Given the description of an element on the screen output the (x, y) to click on. 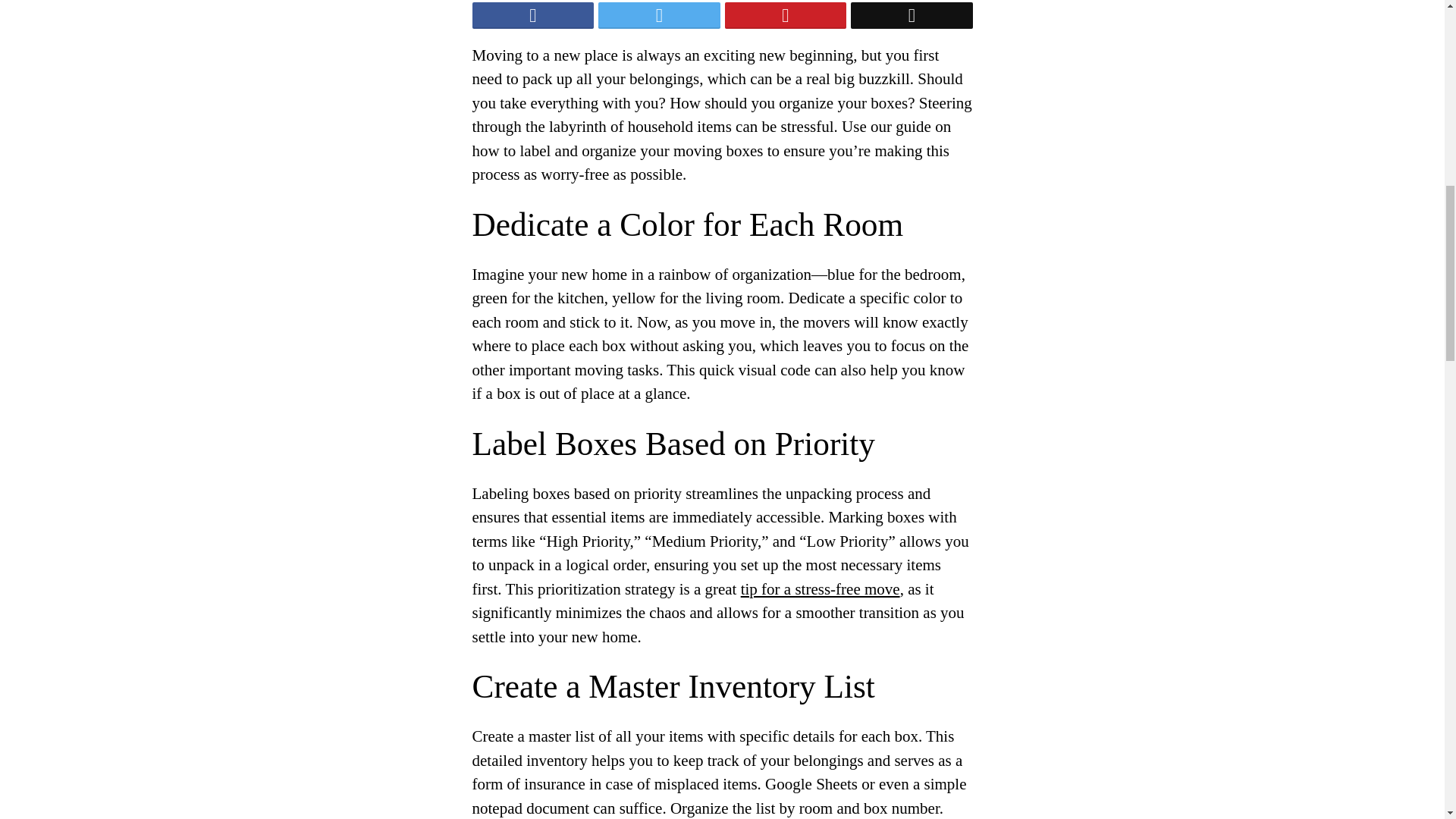
tip for a stress-free move (820, 588)
